Given the description of an element on the screen output the (x, y) to click on. 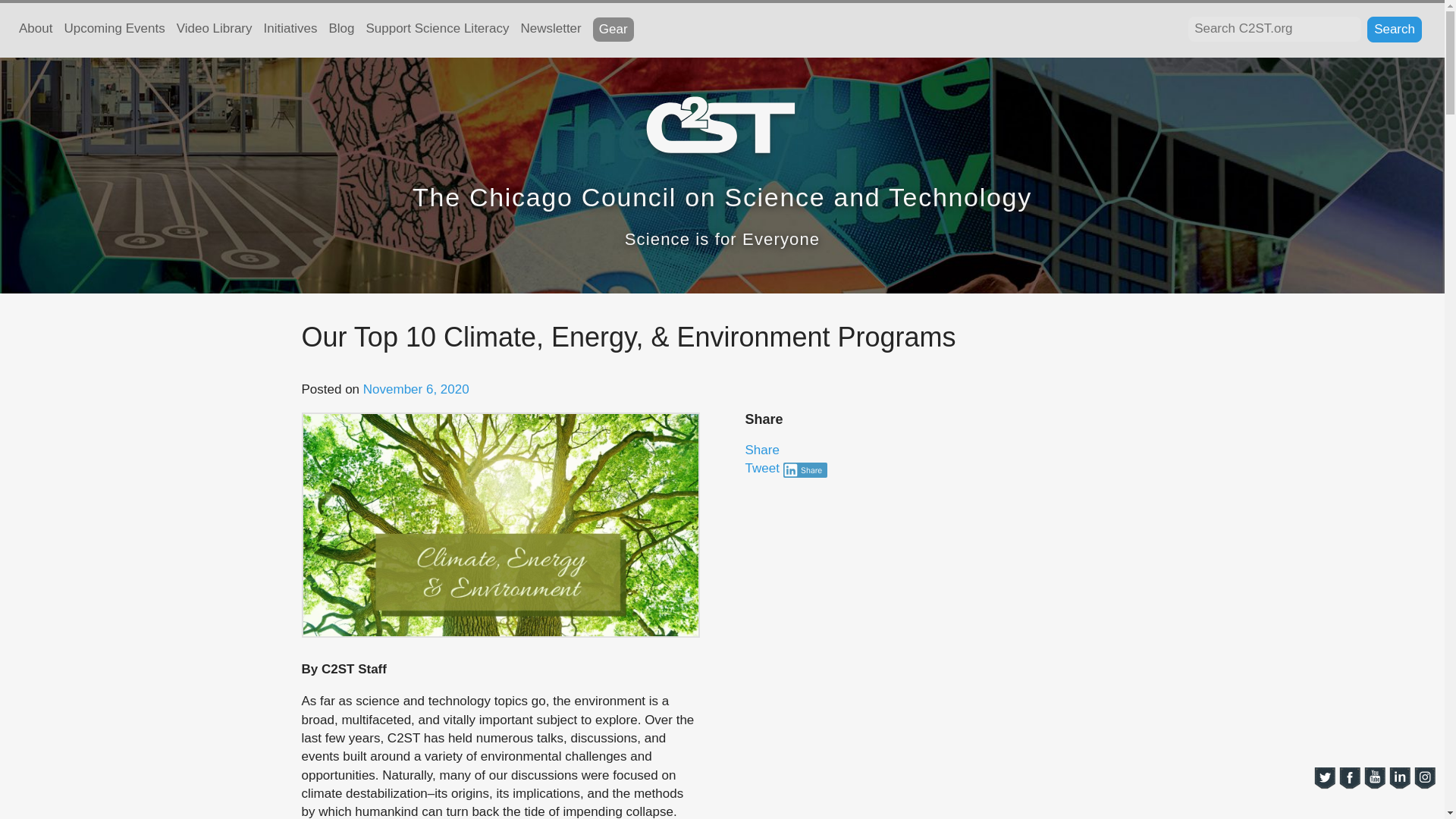
Search (1394, 29)
Share (761, 450)
Visit Us On Facebook (1348, 776)
About (35, 29)
Search (1394, 29)
Visit Us On Twitter (1323, 776)
Newsletter (549, 29)
The Chicago Council on Science and Technology (722, 196)
Visit Us On Instagram (1424, 776)
Blog (341, 29)
Upcoming Events (114, 29)
Video Library (213, 29)
Tweet (763, 468)
Visit Us On Linkedin (1399, 776)
Support Science Literacy (436, 29)
